Given the description of an element on the screen output the (x, y) to click on. 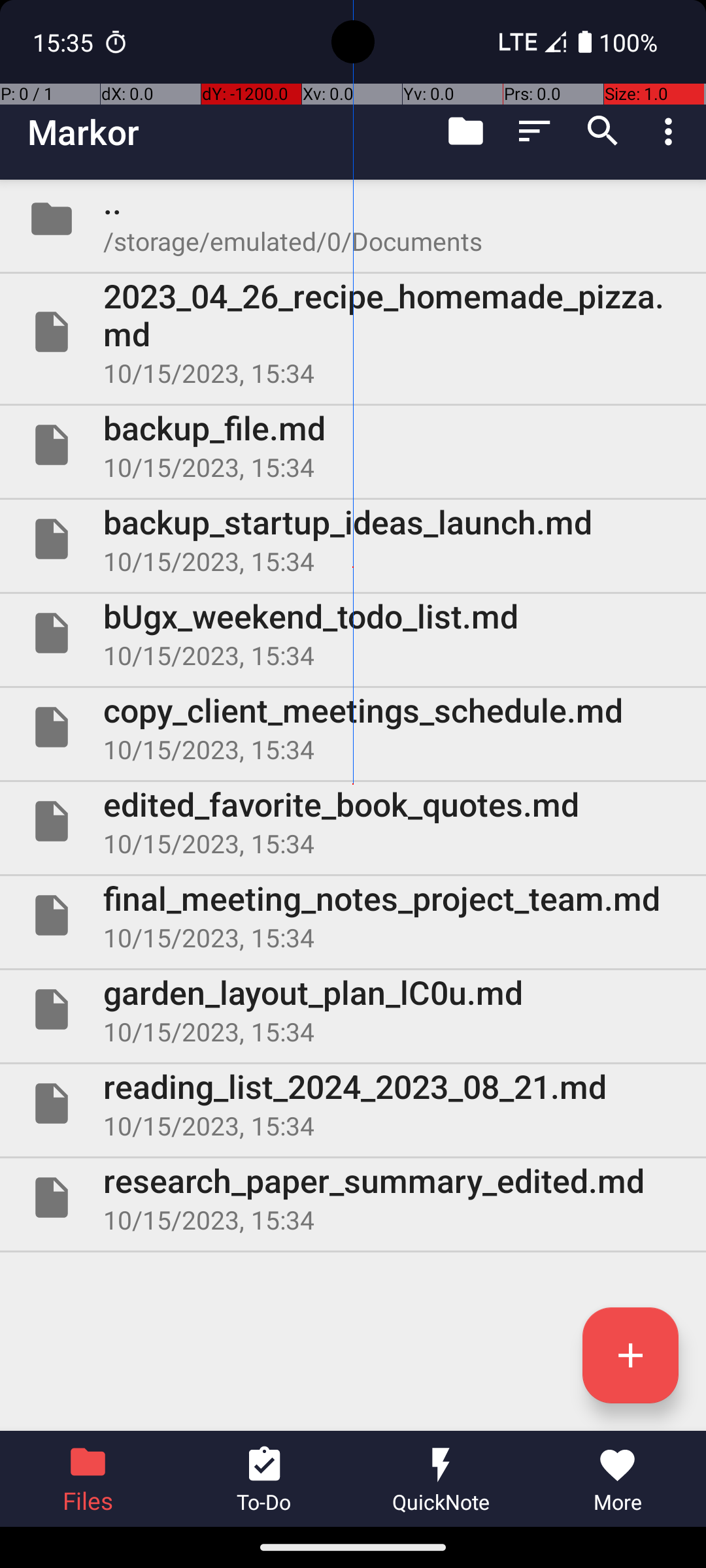
File 2023_04_26_recipe_homemade_pizza.md  Element type: android.widget.LinearLayout (353, 331)
File backup_file.md  Element type: android.widget.LinearLayout (353, 444)
File backup_startup_ideas_launch.md  Element type: android.widget.LinearLayout (353, 538)
File bUgx_weekend_todo_list.md  Element type: android.widget.LinearLayout (353, 632)
File copy_client_meetings_schedule.md  Element type: android.widget.LinearLayout (353, 726)
File edited_favorite_book_quotes.md  Element type: android.widget.LinearLayout (353, 821)
File final_meeting_notes_project_team.md  Element type: android.widget.LinearLayout (353, 915)
File garden_layout_plan_lC0u.md  Element type: android.widget.LinearLayout (353, 1009)
File reading_list_2024_2023_08_21.md  Element type: android.widget.LinearLayout (353, 1103)
File research_paper_summary_edited.md  Element type: android.widget.LinearLayout (353, 1197)
